Given the description of an element on the screen output the (x, y) to click on. 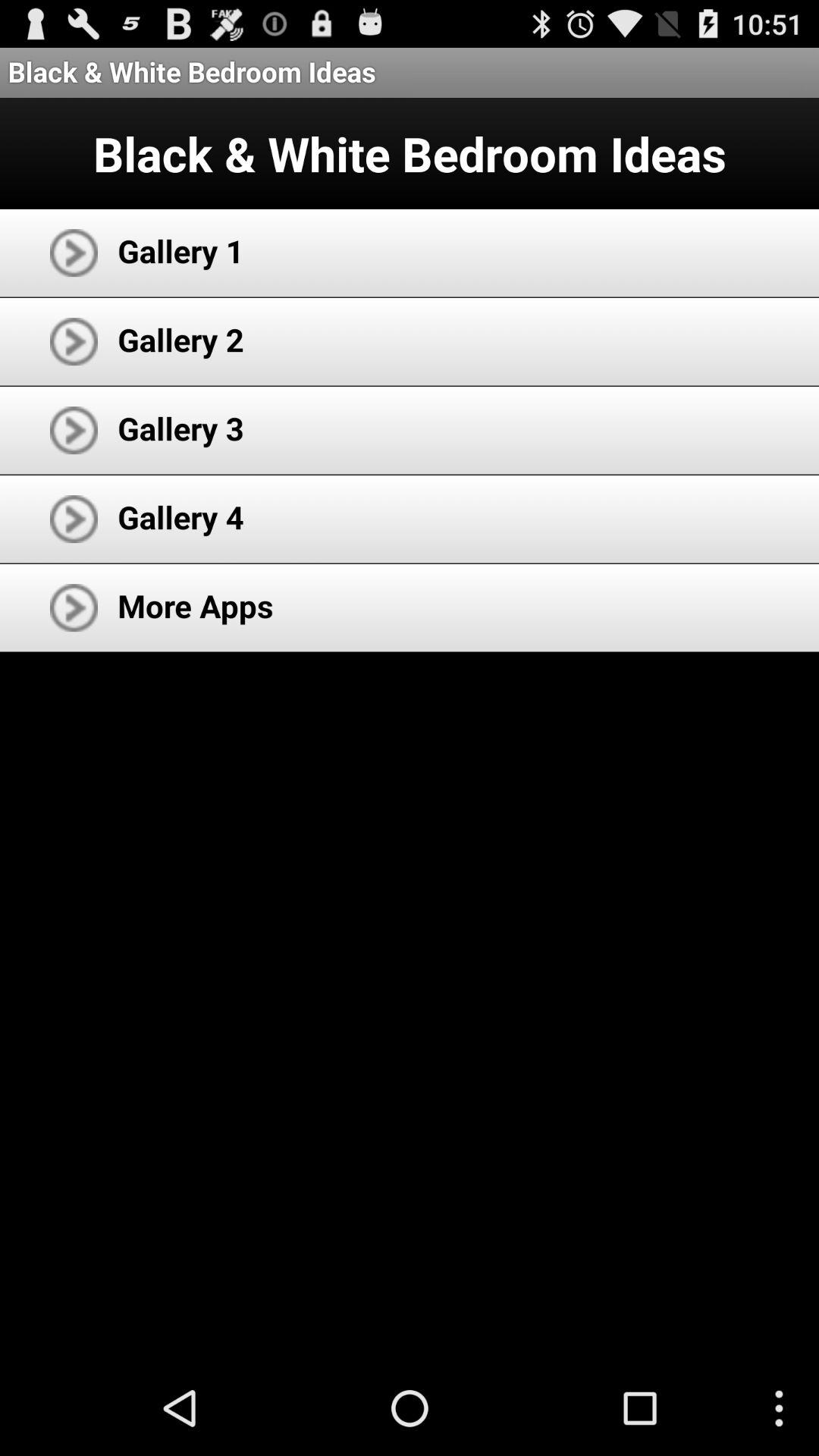
press app below the gallery 2 (180, 427)
